Given the description of an element on the screen output the (x, y) to click on. 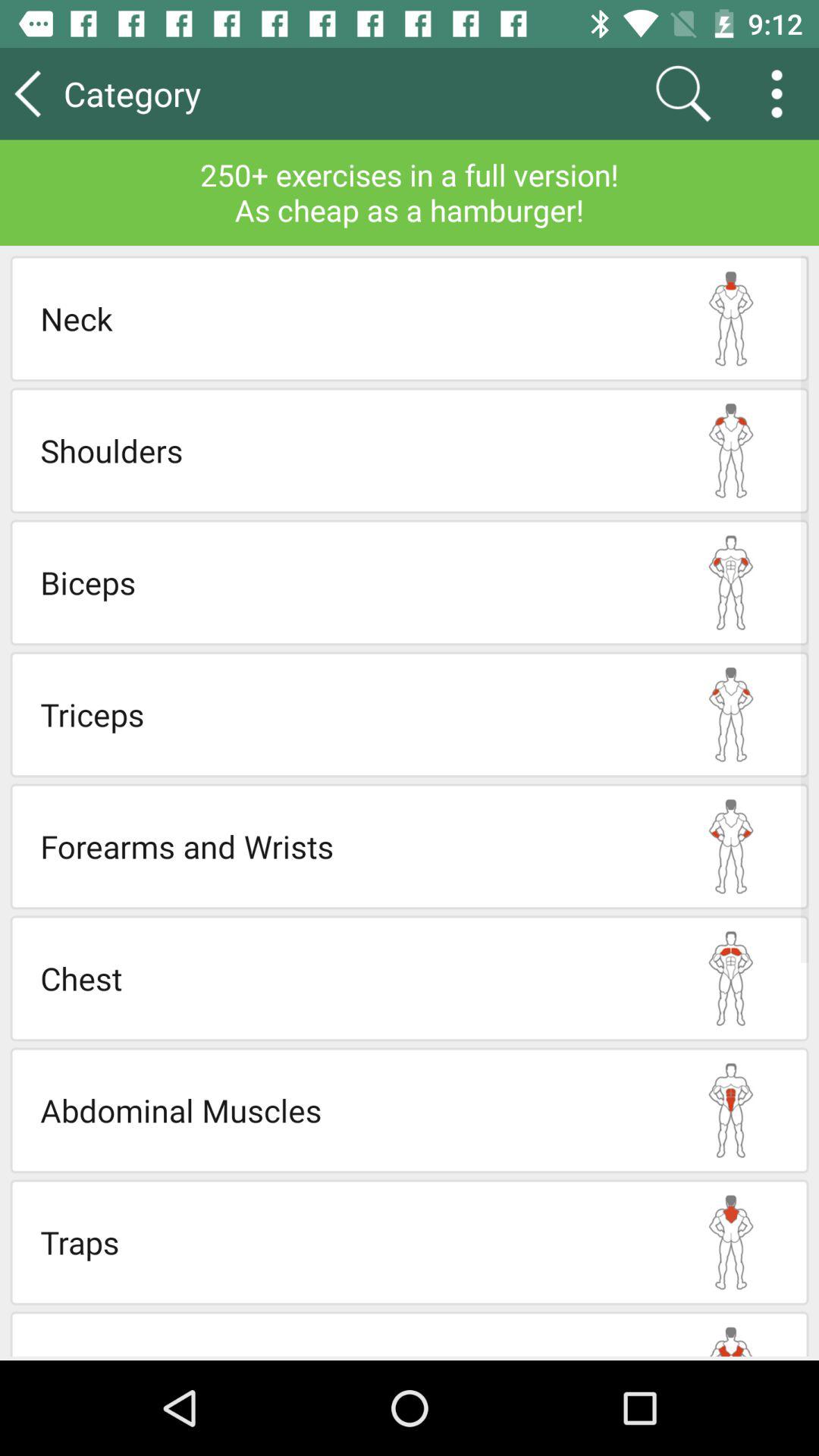
turn off abdominal muscles icon (346, 1110)
